Given the description of an element on the screen output the (x, y) to click on. 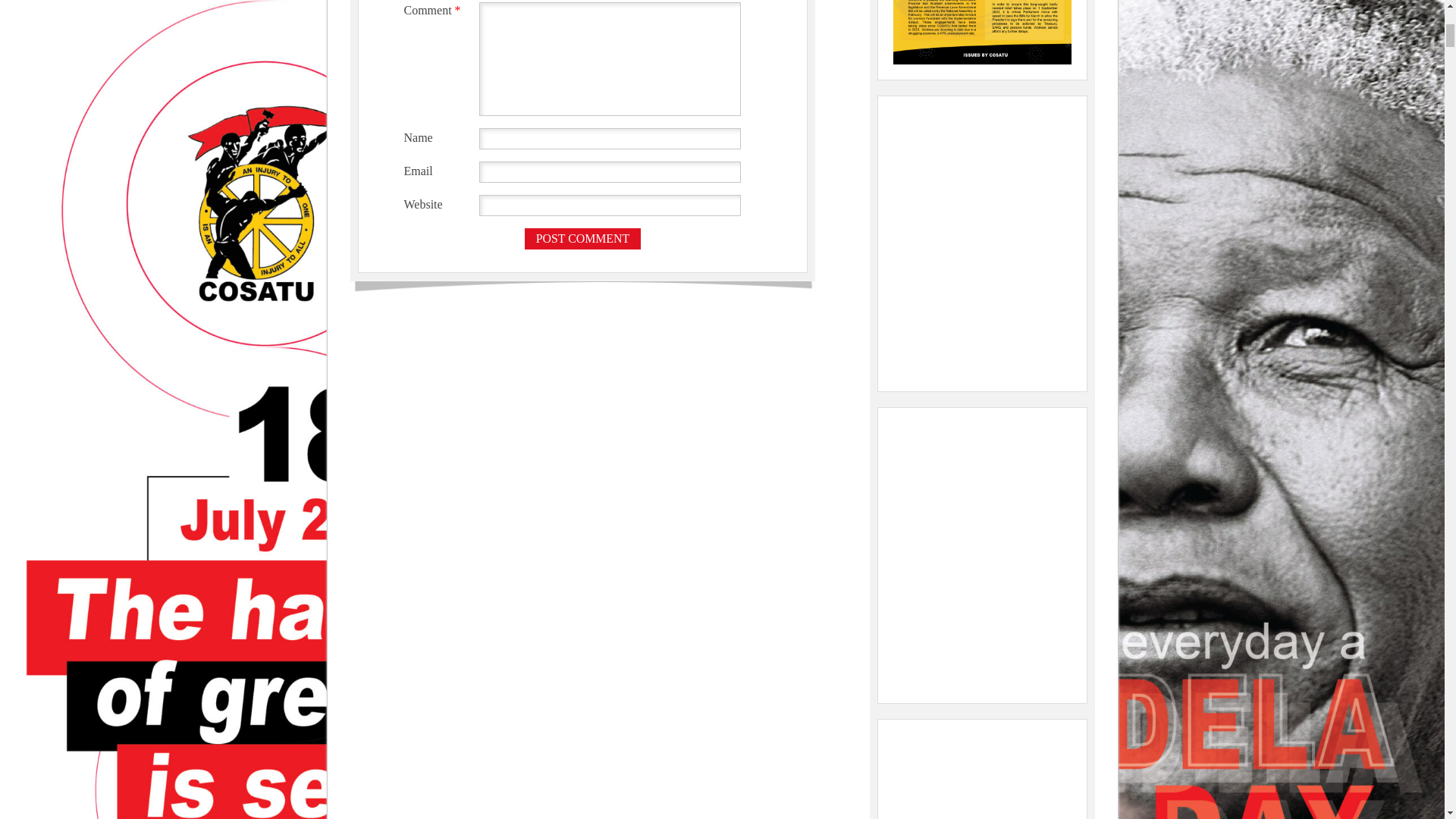
Post Comment (582, 238)
Tshwane metro fails to pay security guards (981, 553)
Sadtu calls on cooperation to ensure learner safety (981, 776)
Post Comment (582, 238)
